Given the description of an element on the screen output the (x, y) to click on. 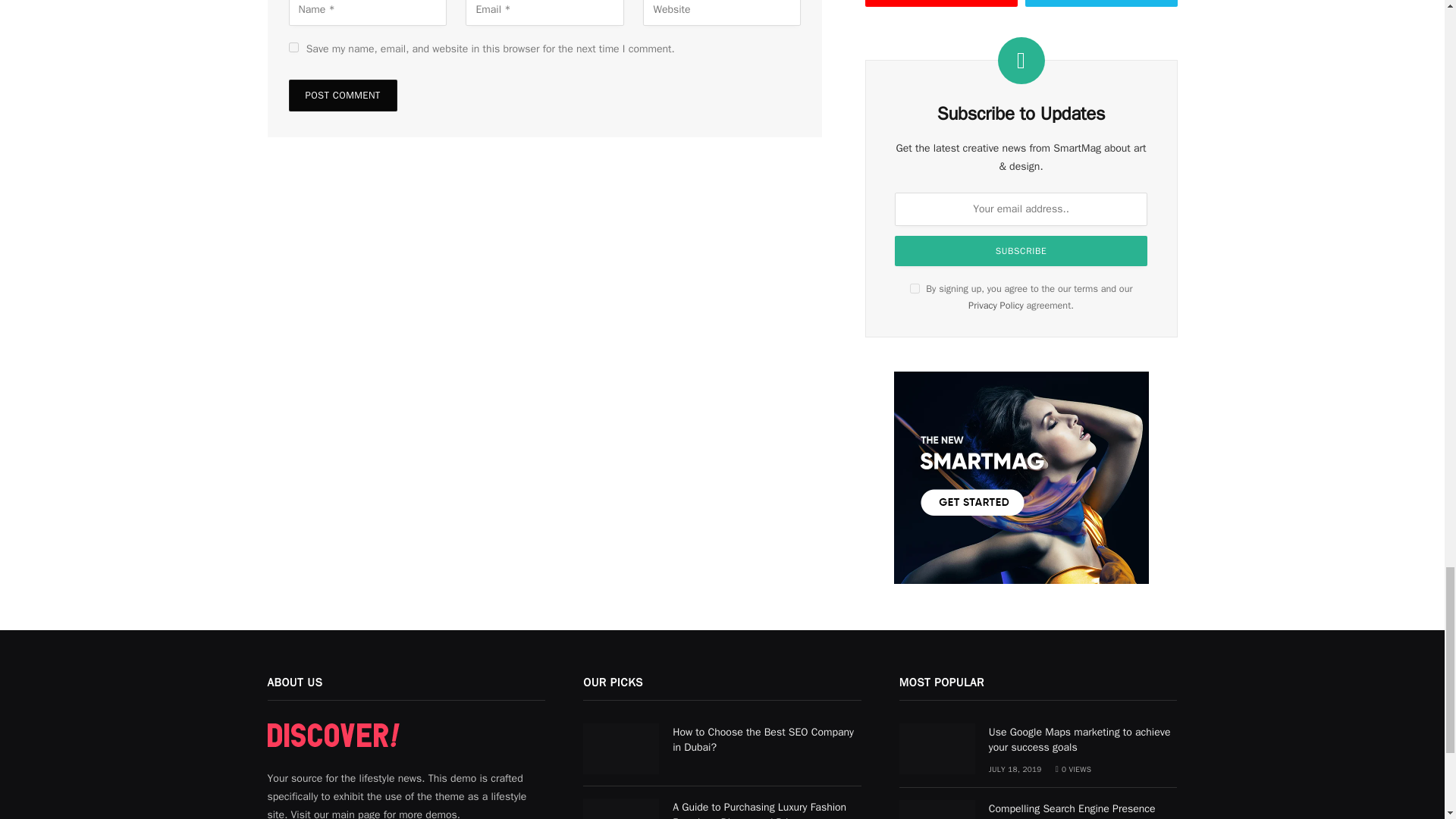
Post Comment (342, 95)
on (915, 288)
Subscribe (1021, 250)
yes (293, 47)
